Given the description of an element on the screen output the (x, y) to click on. 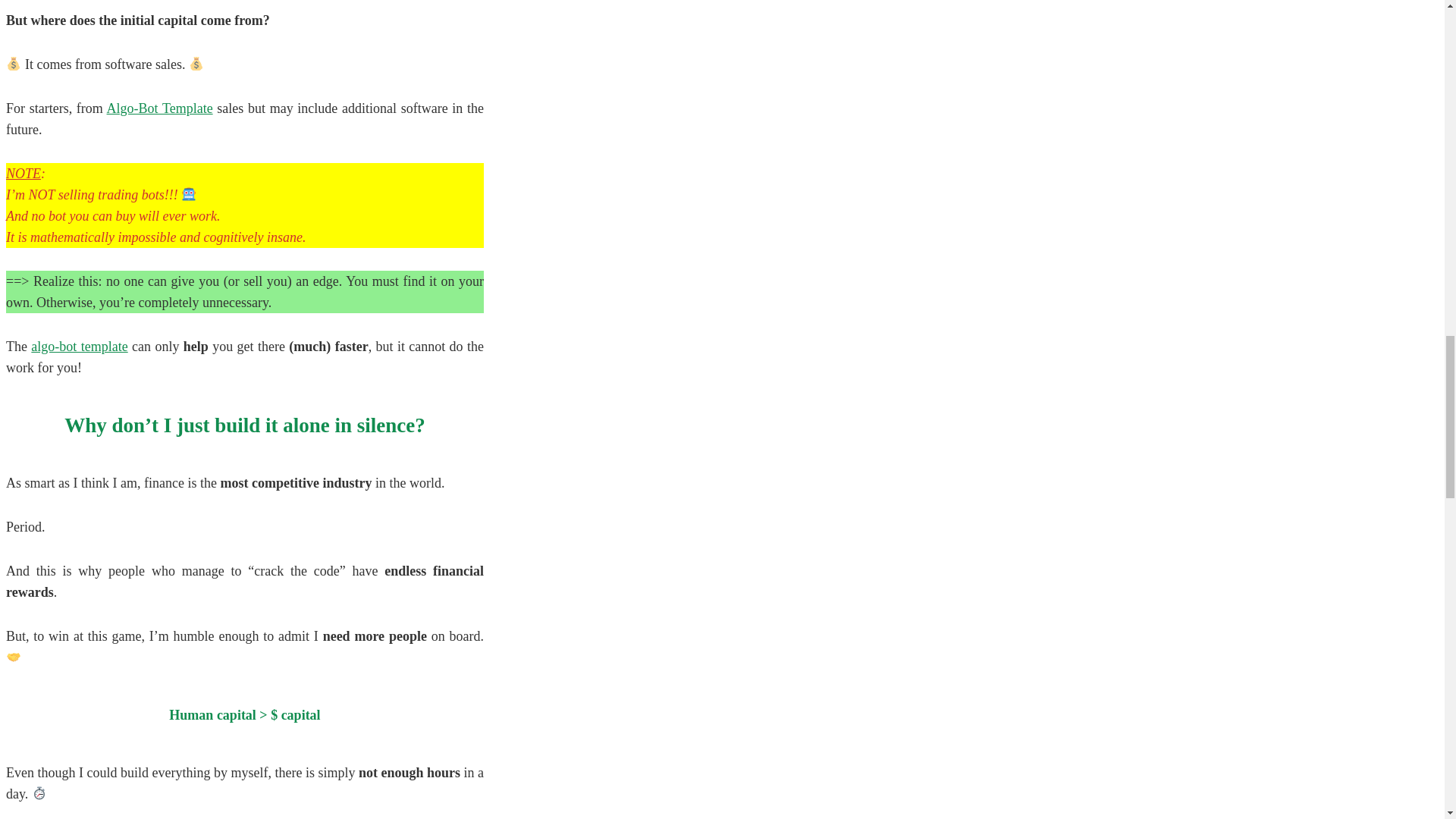
Algo-Bot Template (159, 108)
algo-bot template (79, 346)
